Given the description of an element on the screen output the (x, y) to click on. 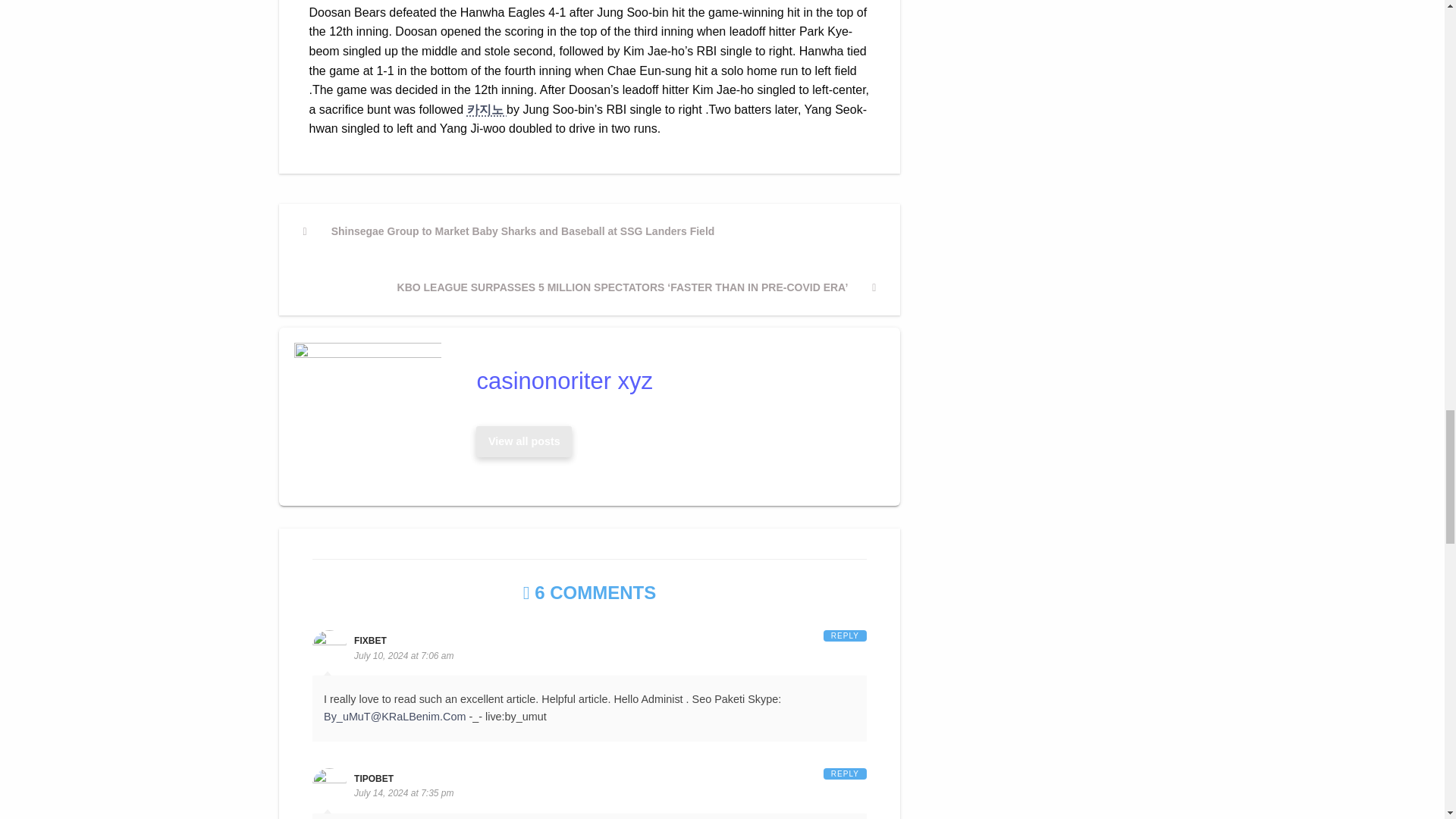
casinonoriter xyz (523, 440)
FIXBET (370, 640)
REPLY (845, 635)
July 10, 2024 at 7:06 am (402, 655)
REPLY (845, 772)
TIPOBET (373, 778)
View all posts (523, 440)
casinonoriter xyz (674, 380)
July 14, 2024 at 7:35 pm (402, 792)
View all posts (524, 441)
casinonoriter xyz (674, 380)
